Given the description of an element on the screen output the (x, y) to click on. 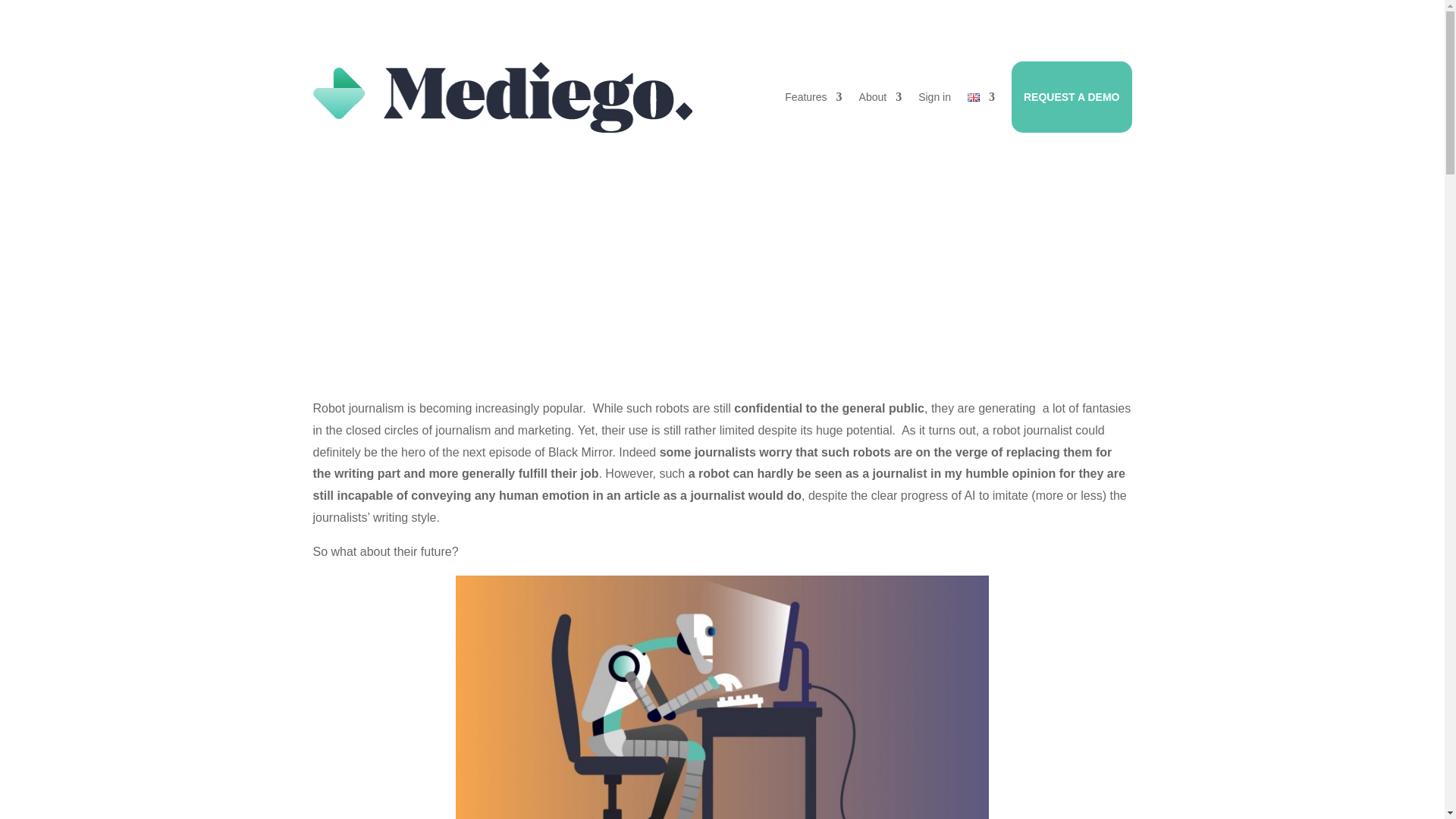
REQUEST A DEMO (1071, 96)
Posts by Benjamin Carro (637, 237)
Benjamin Carro (637, 237)
Personalization (822, 237)
